Given the description of an element on the screen output the (x, y) to click on. 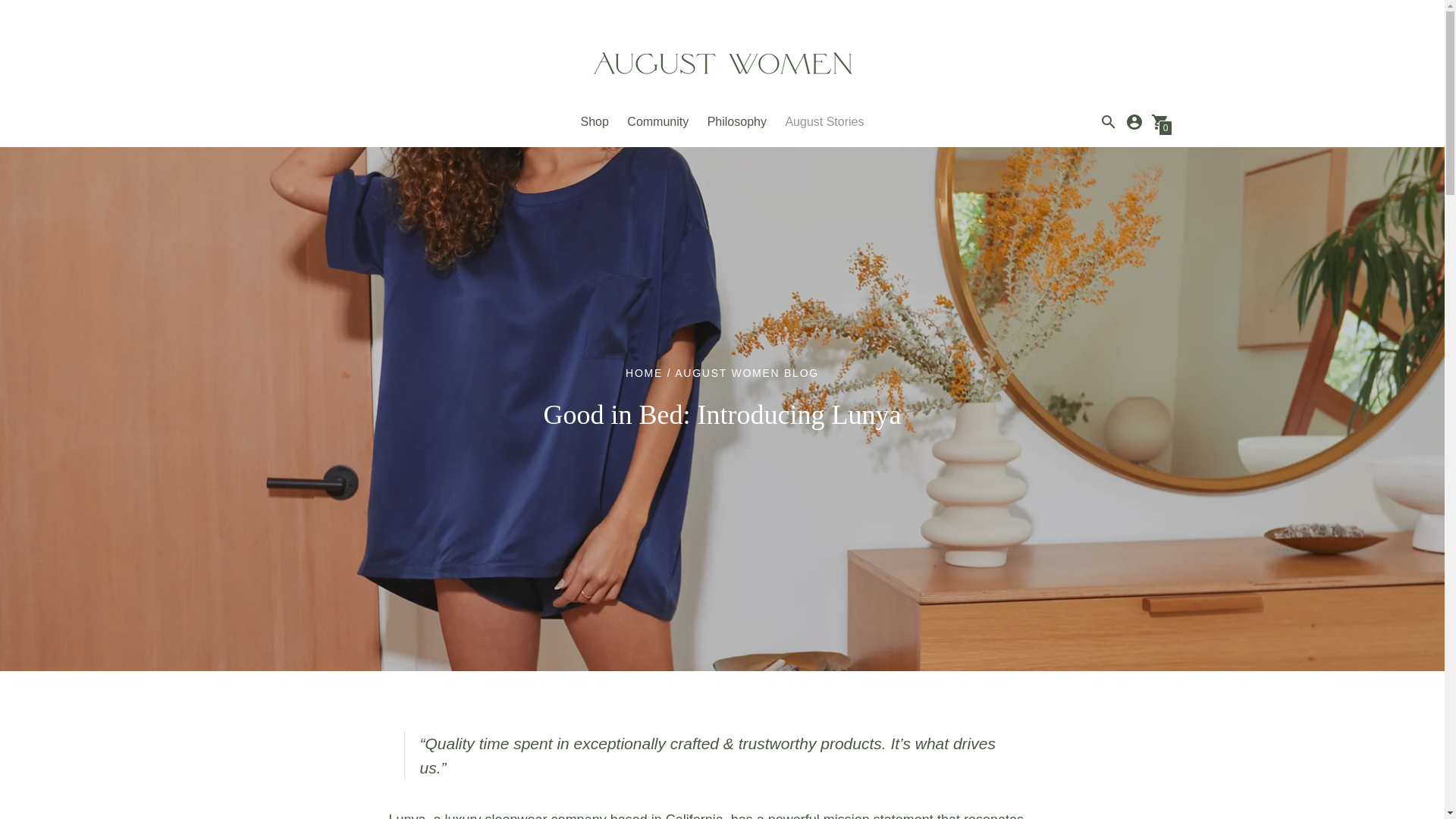
August Stories (823, 121)
Community (657, 121)
Philosophy (737, 121)
Shop (594, 121)
